Given the description of an element on the screen output the (x, y) to click on. 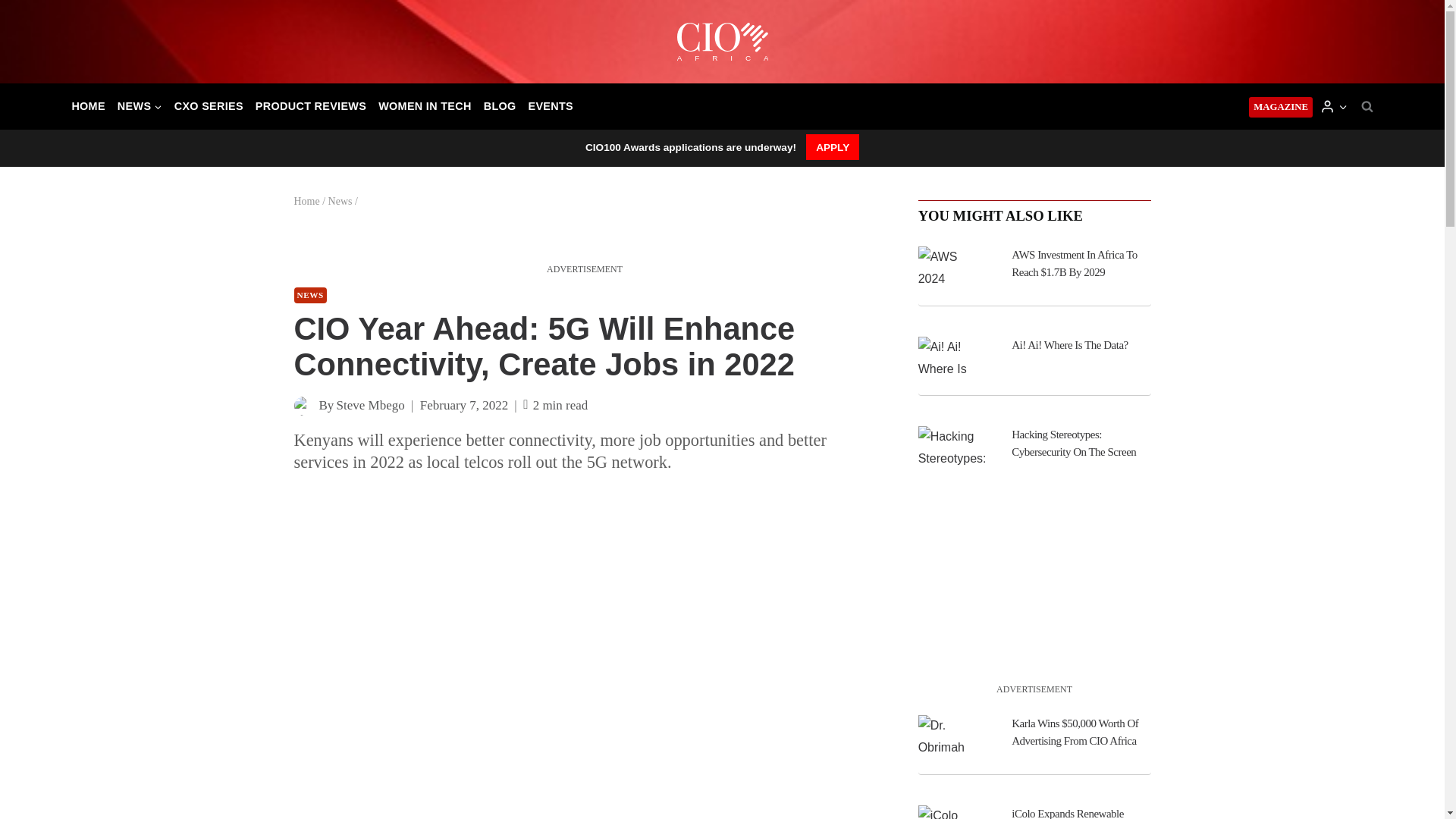
CXO SERIES (208, 106)
NEWS (140, 106)
APPLY (832, 146)
NEWS (310, 295)
Home (307, 201)
HOME (87, 106)
MAGAZINE (1281, 107)
EVENTS (550, 106)
WOMEN IN TECH (424, 106)
PRODUCT REVIEWS (310, 106)
